Given the description of an element on the screen output the (x, y) to click on. 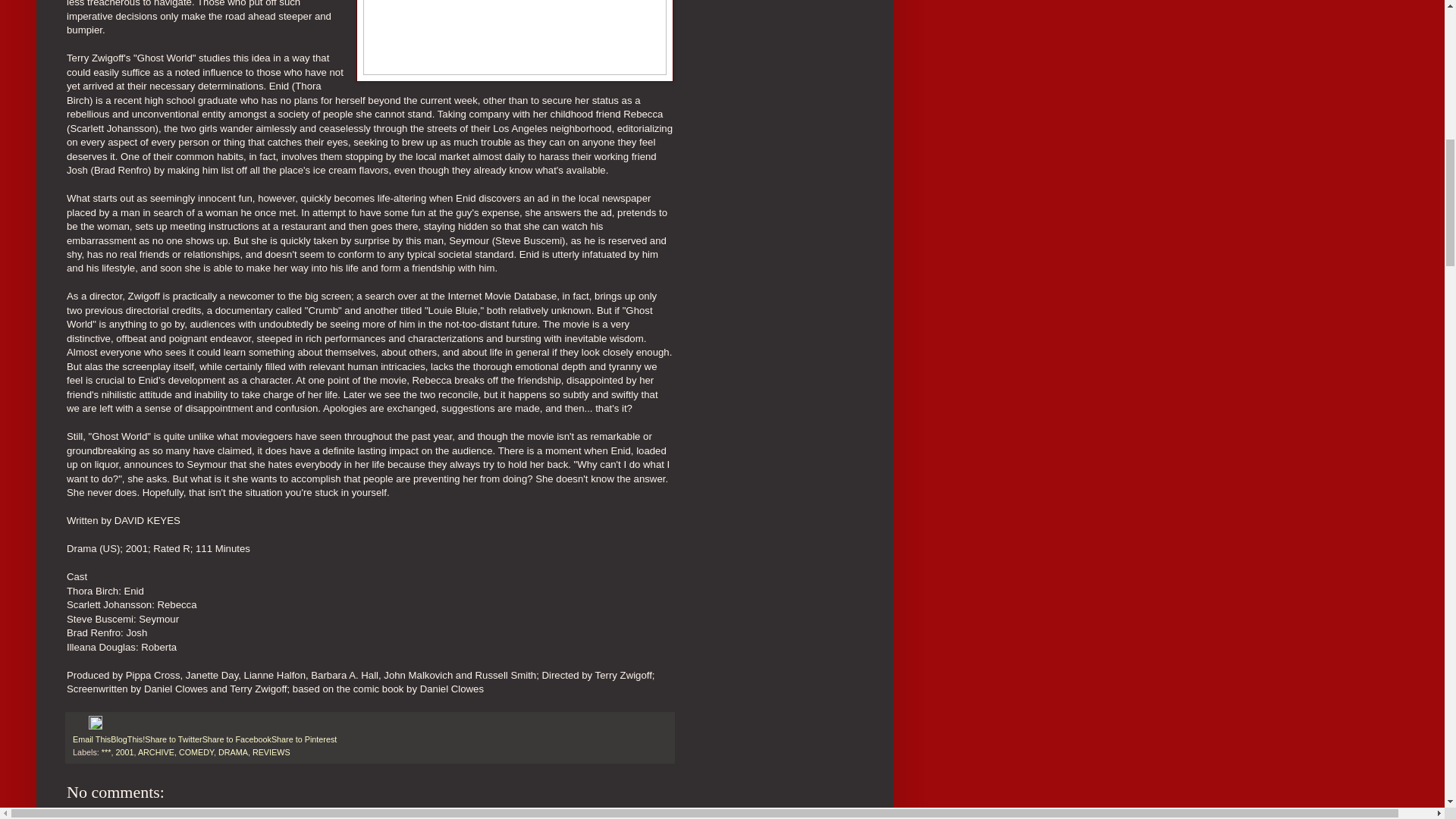
Share to Pinterest (303, 738)
REVIEWS (270, 751)
BlogThis! (127, 738)
Share to Facebook (236, 738)
COMEDY (196, 751)
Email Post (80, 726)
Share to Twitter (173, 738)
ARCHIVE (156, 751)
BlogThis! (127, 738)
2001 (124, 751)
Post a Comment (99, 815)
Email This (91, 738)
Share to Facebook (236, 738)
Share to Pinterest (303, 738)
Edit Post (94, 726)
